Given the description of an element on the screen output the (x, y) to click on. 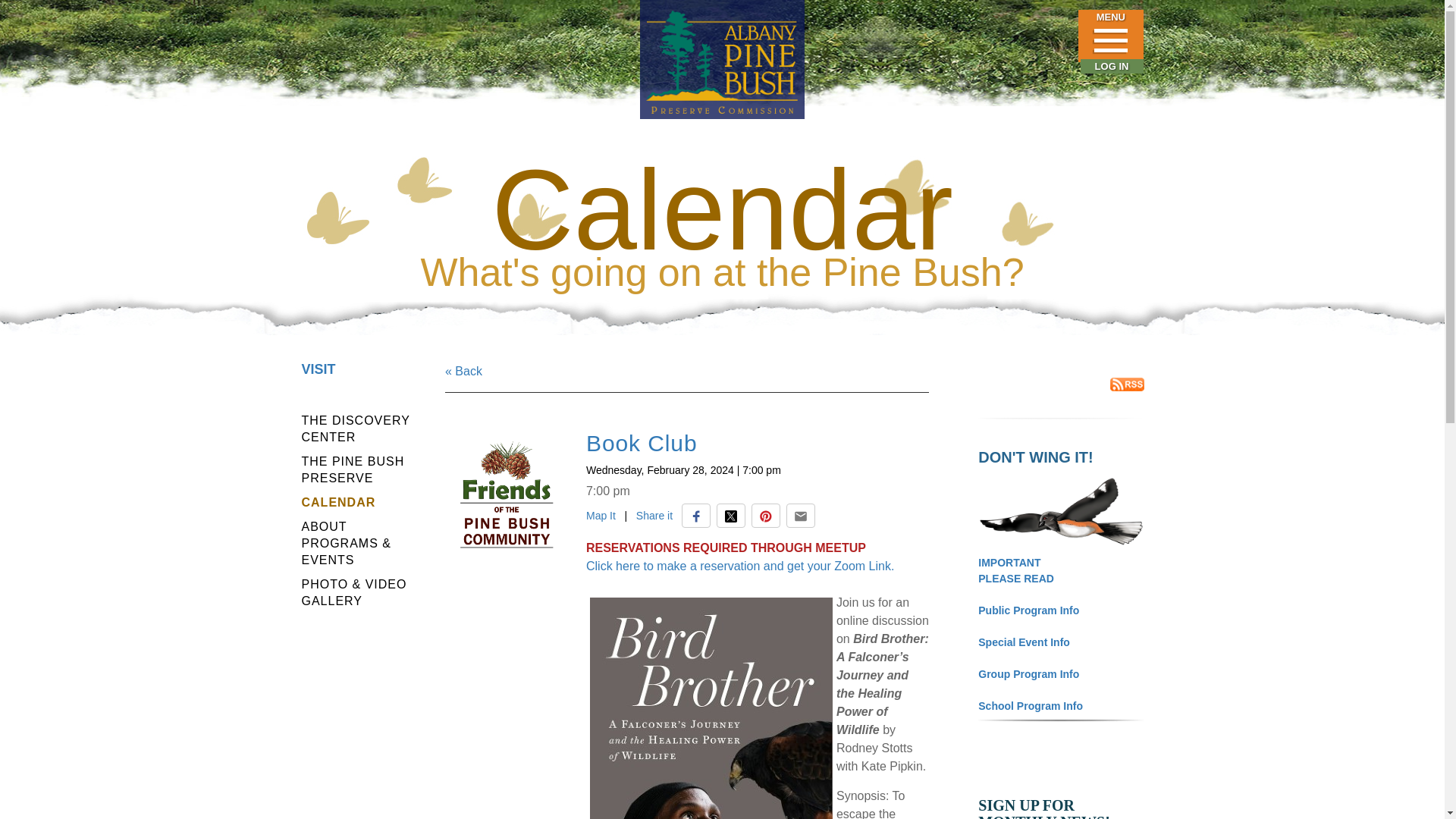
MENU (1110, 35)
LOG IN (1111, 66)
